Given the description of an element on the screen output the (x, y) to click on. 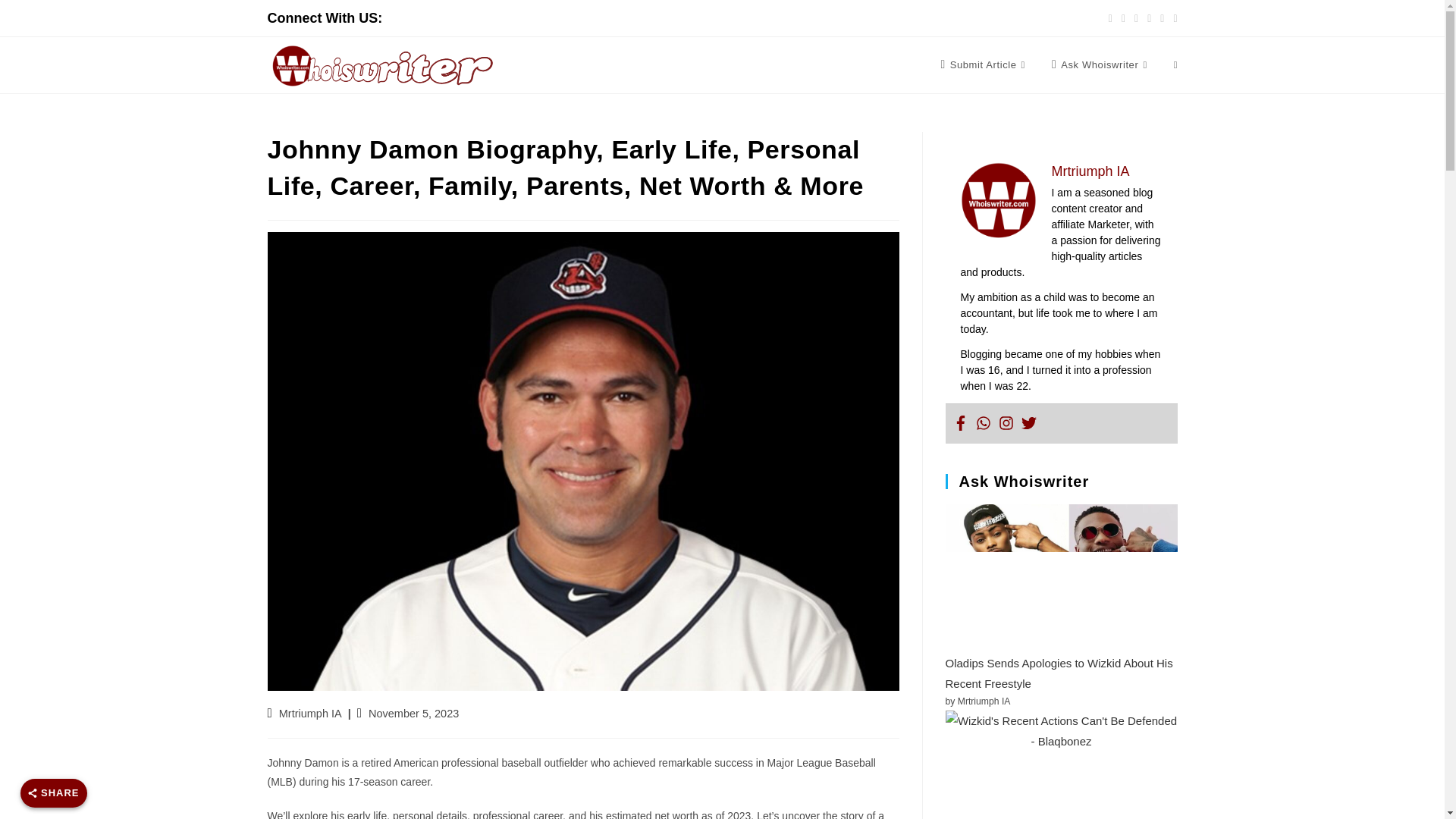
Facebook (960, 423)
Instagram (1005, 423)
Ask Whoiswriter (1101, 64)
Posts by Mrtriumph IA (310, 713)
Submit Article (984, 64)
Whatsapp (982, 423)
Mrtriumph IA (310, 713)
Twitter (1027, 423)
